Given the description of an element on the screen output the (x, y) to click on. 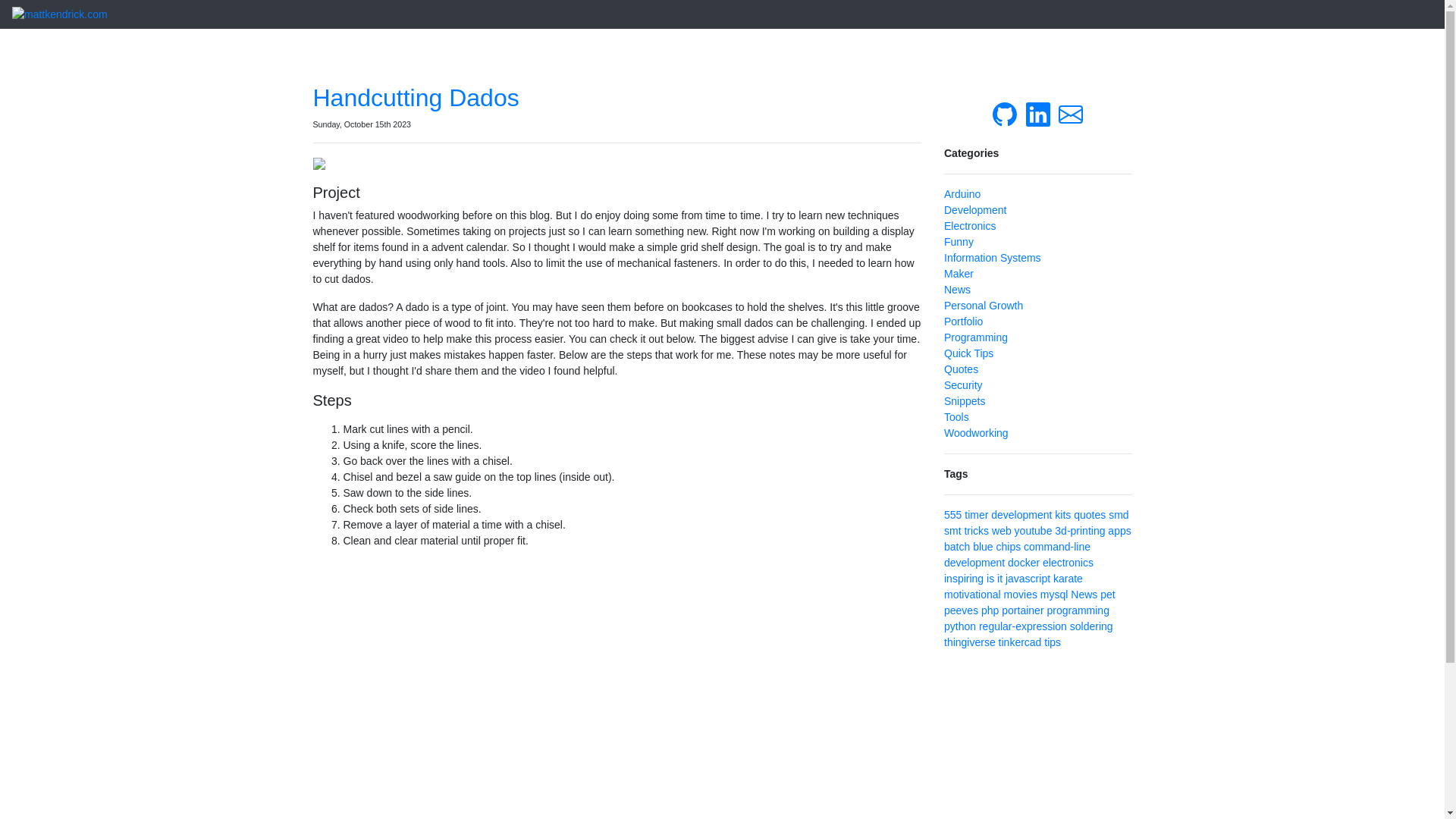
Tools (956, 417)
Portfolio (962, 321)
Email (1070, 113)
Maker (958, 273)
Security (962, 385)
Woodworking (976, 432)
Programming (975, 337)
Personal Growth (983, 305)
Electronics (969, 225)
Handcutting Dados (415, 97)
blue (982, 546)
youtube (1033, 530)
smd (1118, 514)
tricks (975, 530)
